Given the description of an element on the screen output the (x, y) to click on. 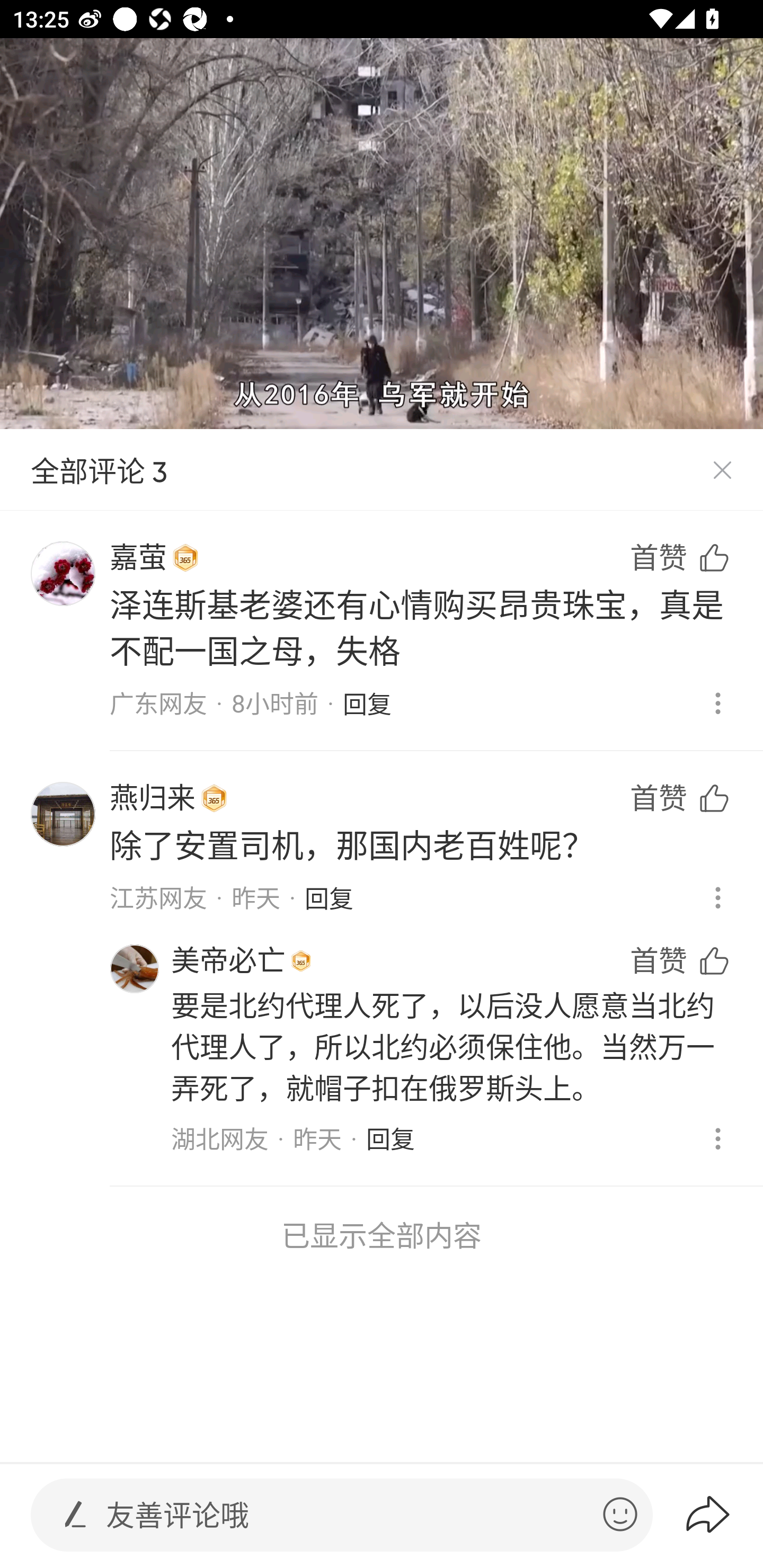
关闭 (722, 470)
UserRightLabel_OneMedalView 勋章 (184, 558)
UserRightLabel_OneMedalView 勋章 (213, 798)
UserRightLabel_OneMedalView 勋章 (300, 961)
已显示全部内容 (381, 1235)
友善评论哦 发表评论 (346, 1515)
 分享 (723, 1514)
 (75, 1514)
 (619, 1514)
